Given the description of an element on the screen output the (x, y) to click on. 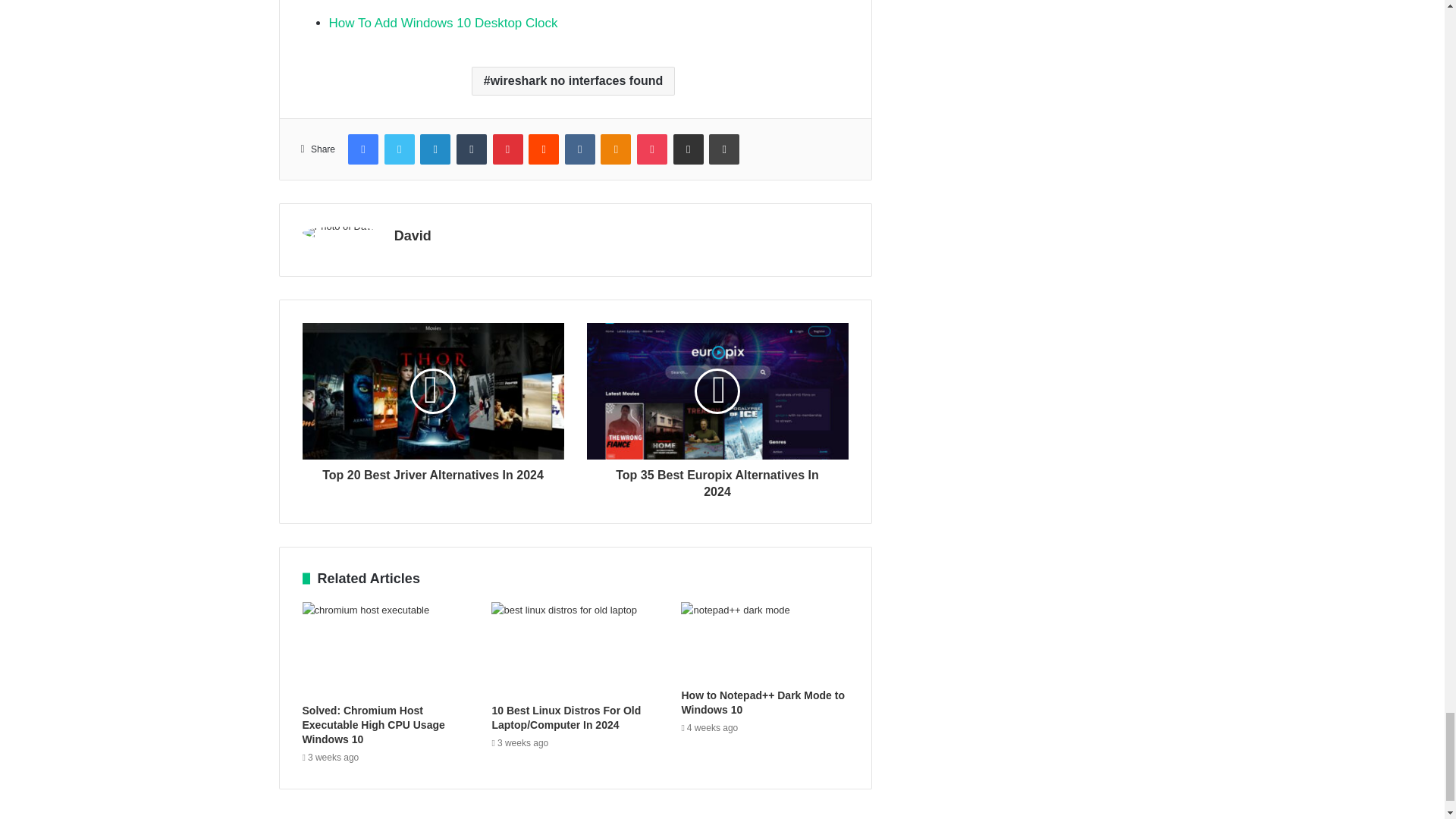
Reddit (543, 149)
Pinterest (507, 149)
Twitter (399, 149)
LinkedIn (434, 149)
Tumblr (471, 149)
Pocket (651, 149)
VKontakte (579, 149)
Odnoklassniki (614, 149)
Facebook (362, 149)
